Given the description of an element on the screen output the (x, y) to click on. 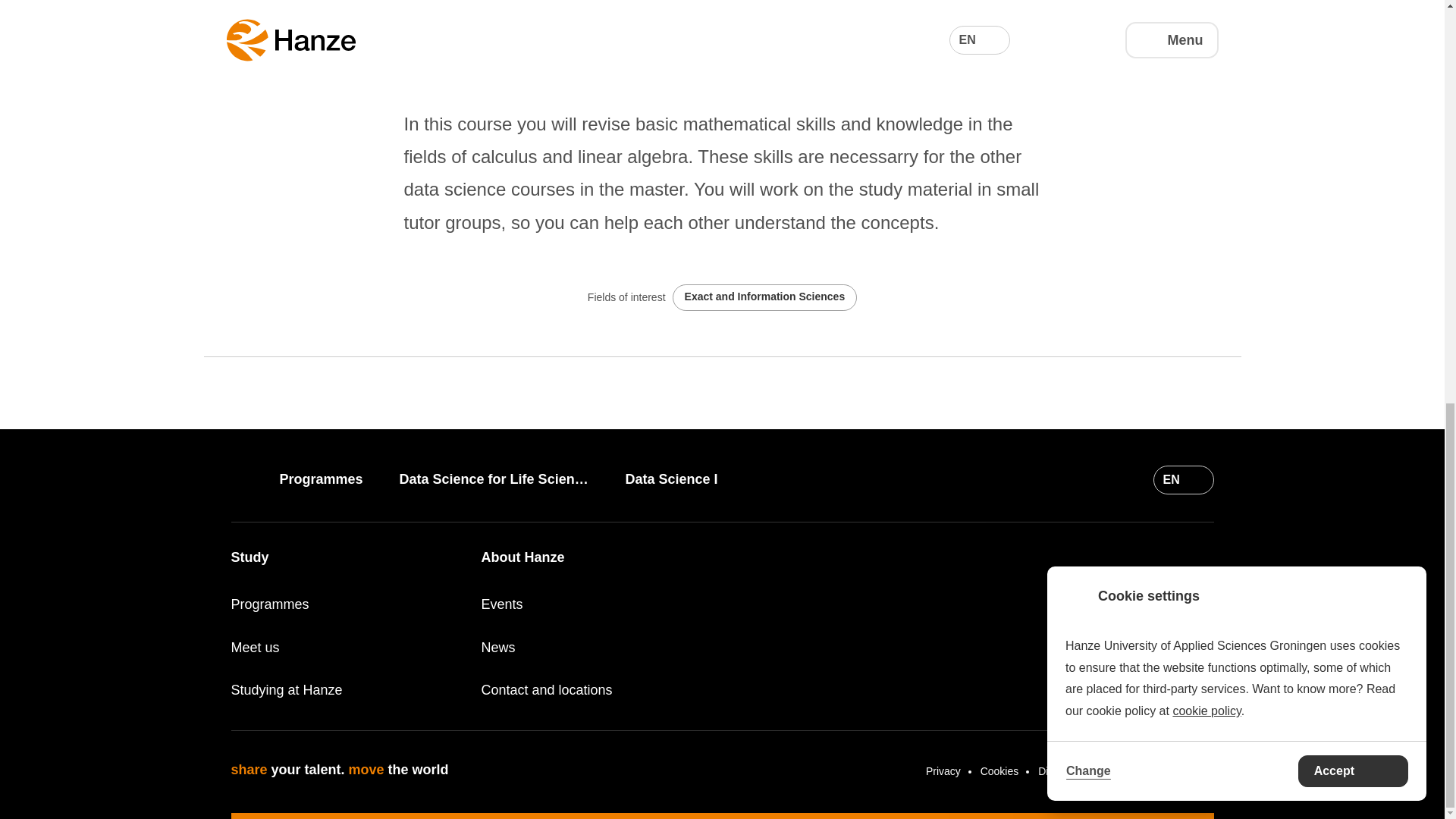
Studying at Hanze (346, 689)
Meet us (346, 647)
Programmes (332, 478)
Data Science for Life Sciences (504, 478)
Study (248, 557)
EN (1182, 480)
Programmes (346, 604)
